Given the description of an element on the screen output the (x, y) to click on. 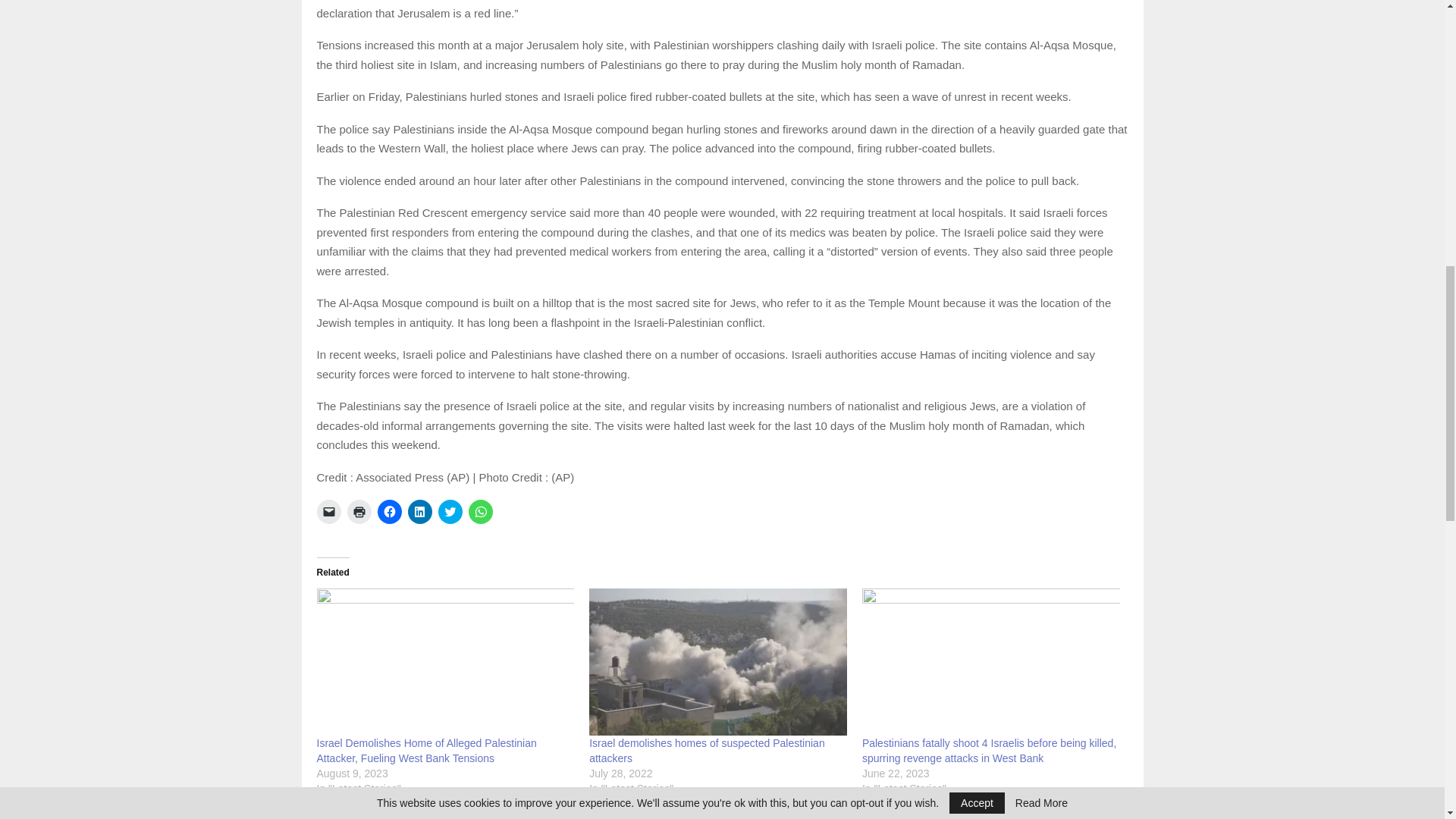
Click to share on LinkedIn (419, 511)
Click to email a link to a friend (328, 511)
Click to print (359, 511)
Click to share on Facebook (389, 511)
